Given the description of an element on the screen output the (x, y) to click on. 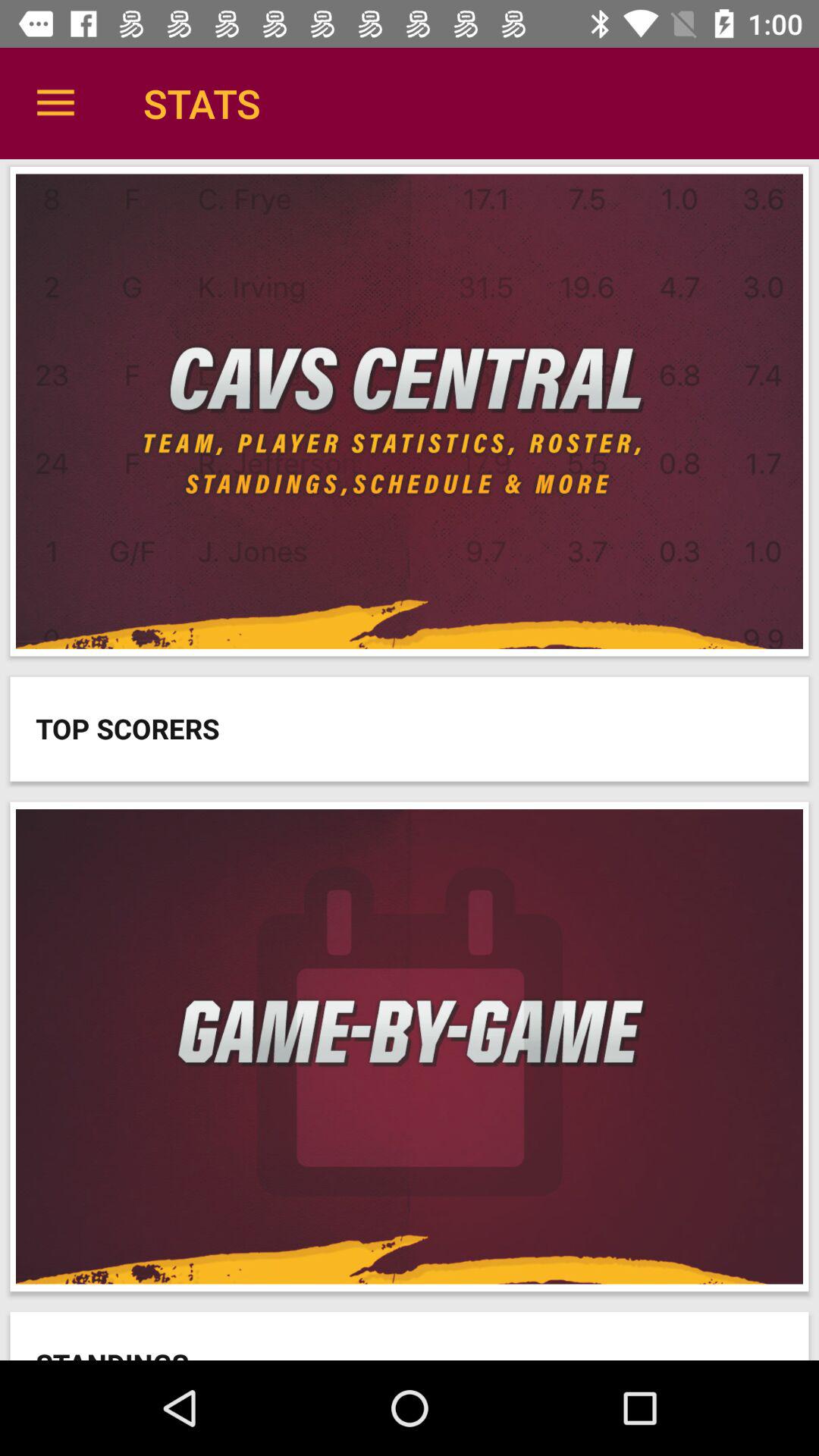
launch the icon to the left of the stats item (55, 103)
